Given the description of an element on the screen output the (x, y) to click on. 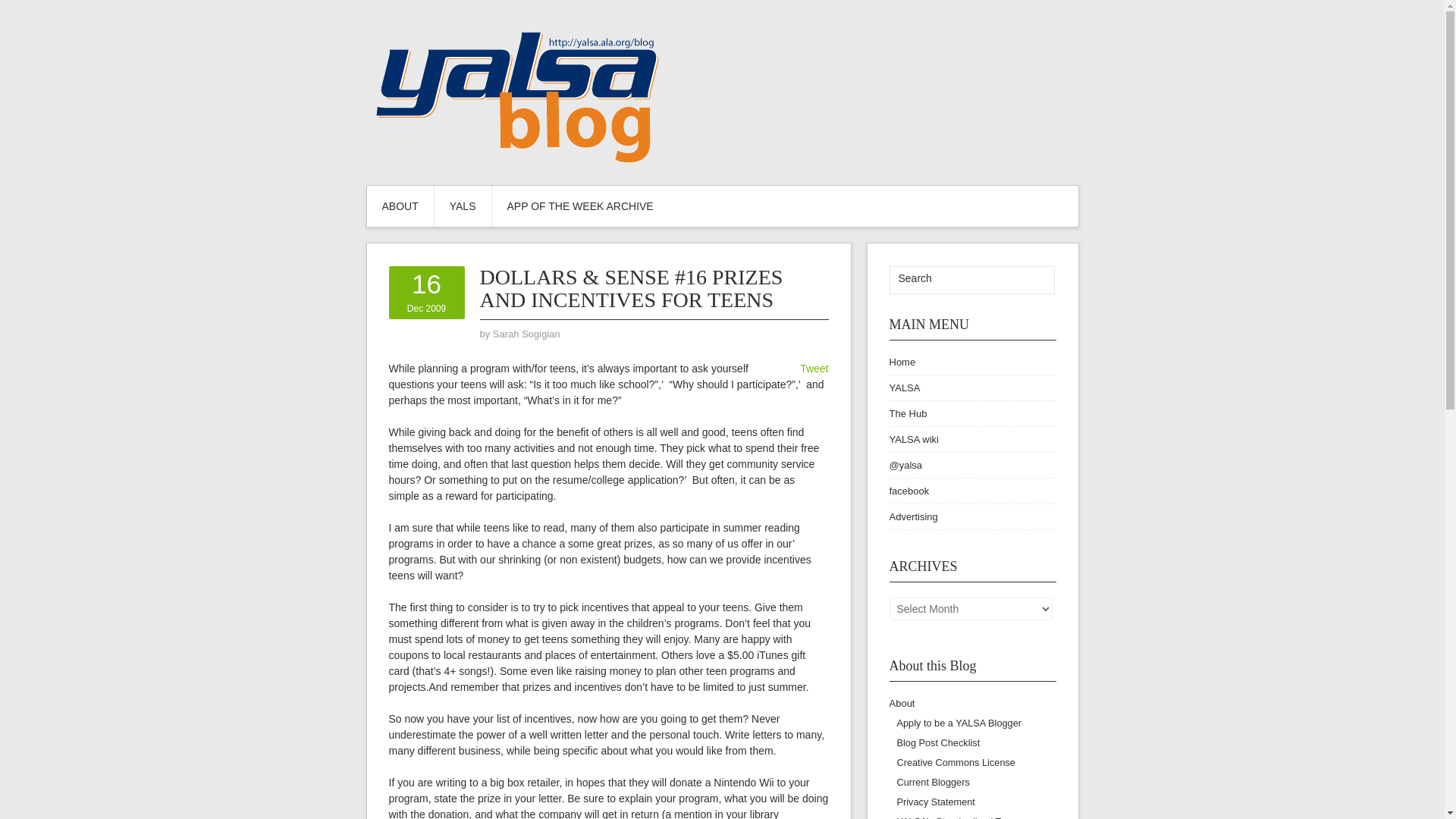
Sarah Sogigian (526, 333)
Home (901, 361)
facebook (908, 490)
APP OF THE WEEK ARCHIVE (580, 205)
Search (954, 278)
December 16, 2009 12:59 pm (426, 291)
Tweet (426, 291)
YALSA wiki (813, 368)
ABOUT (913, 439)
YALS (399, 205)
The Hub (462, 205)
YALSA (907, 413)
Search (904, 387)
by Sarah Sogigian (1032, 279)
